Given the description of an element on the screen output the (x, y) to click on. 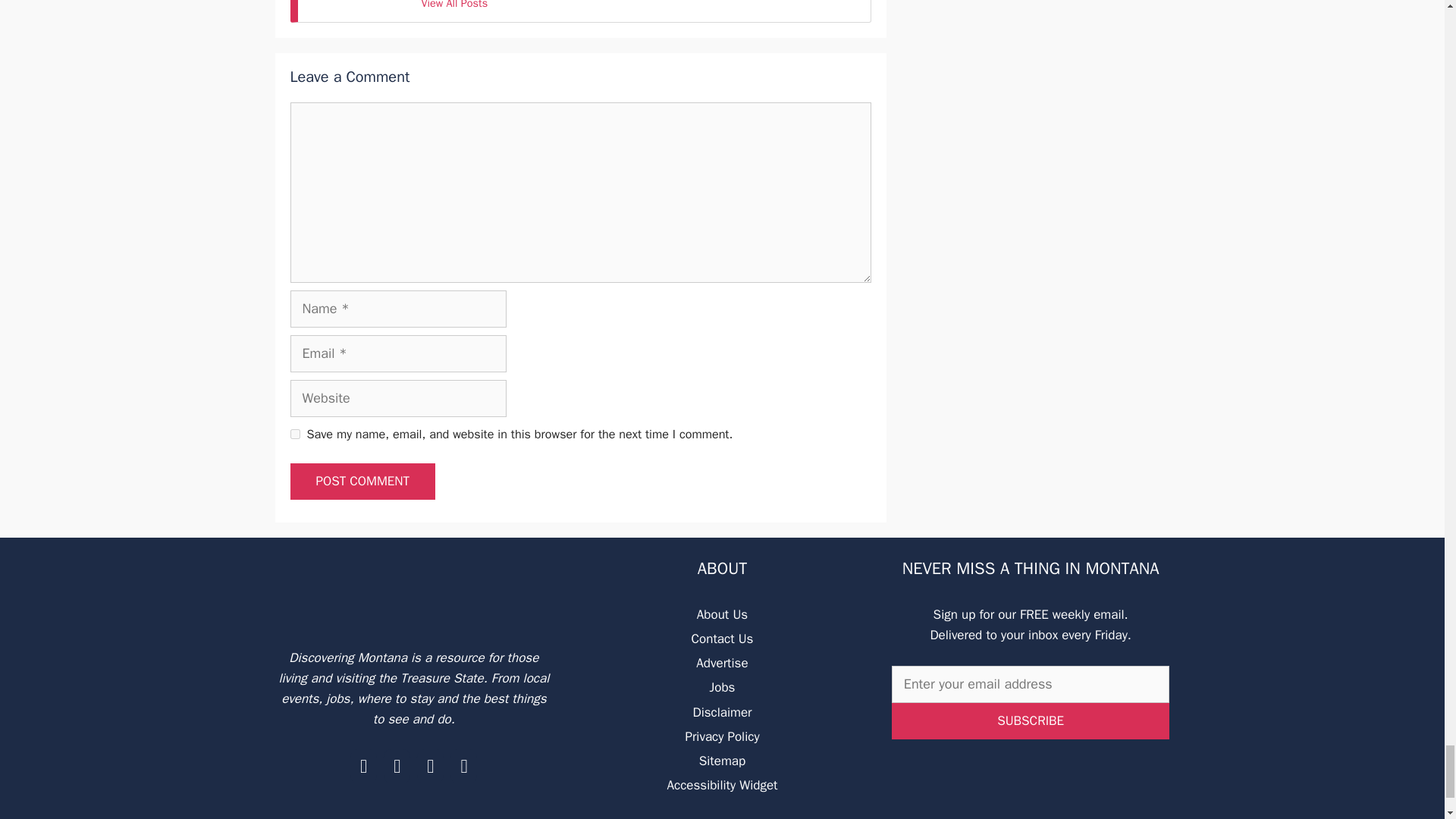
Read more (453, 7)
yes (294, 433)
Subscribe (1030, 720)
Travel to Montana Blog (414, 591)
Post Comment (362, 481)
